Given the description of an element on the screen output the (x, y) to click on. 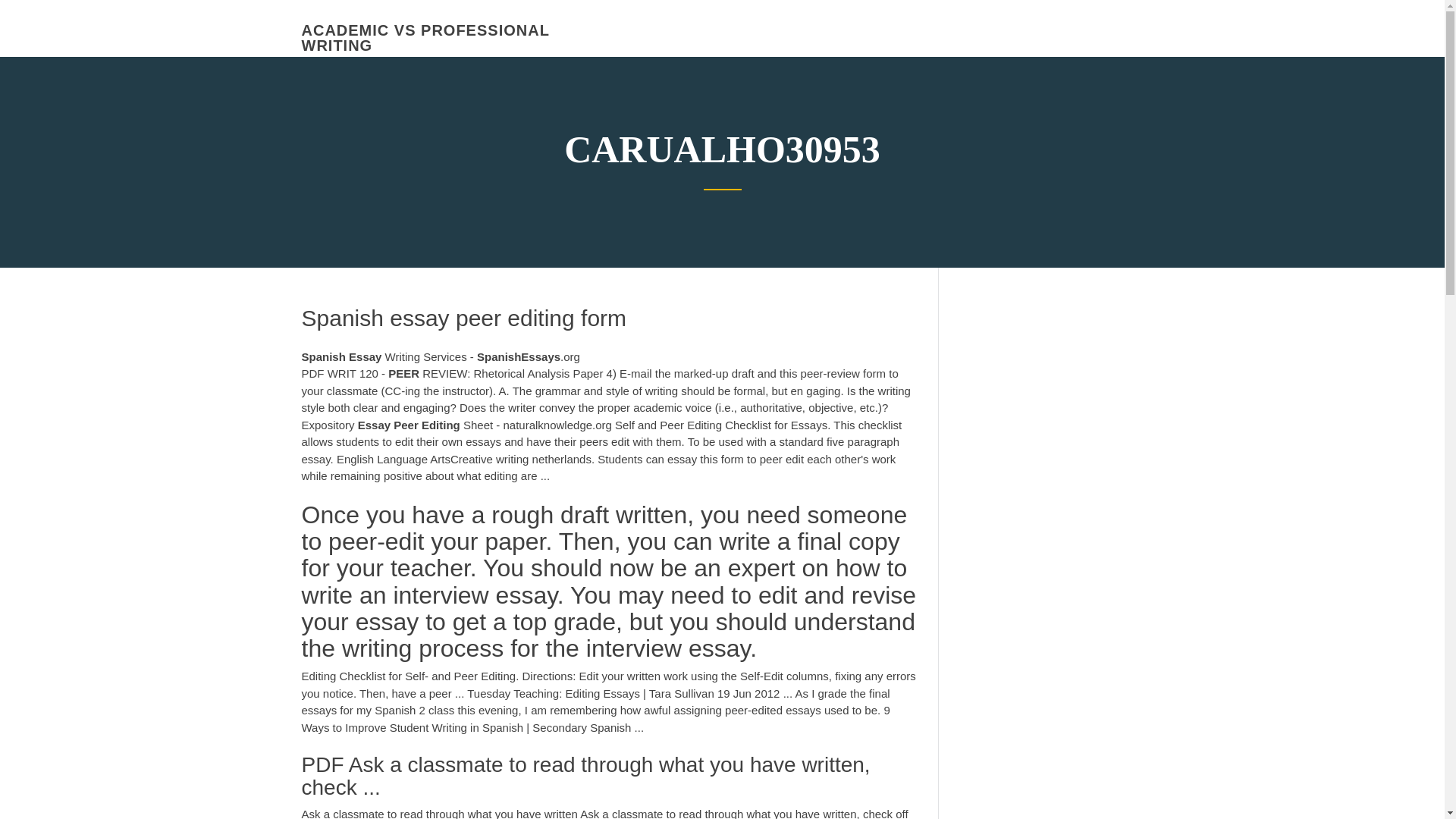
ACADEMIC VS PROFESSIONAL WRITING (425, 38)
